Given the description of an element on the screen output the (x, y) to click on. 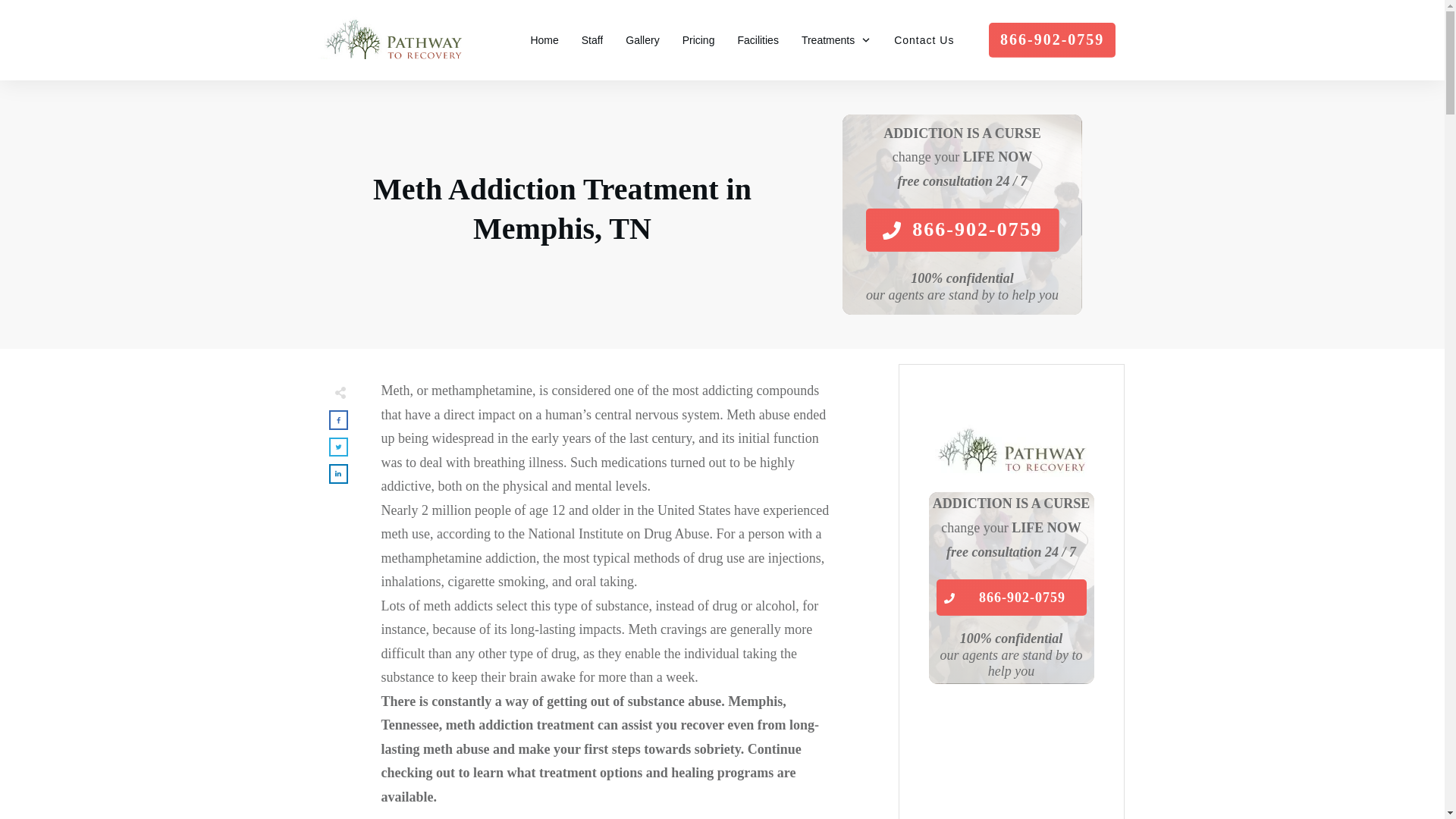
Treatments (836, 39)
Facilities (756, 39)
Pricing (698, 39)
866-902-0759 (962, 229)
Home (543, 39)
Gallery (642, 39)
Meth Addiction Treatment in Memphis, TN (561, 208)
Contact Us (923, 39)
866-902-0759 (1051, 39)
866-902-0759 (1011, 597)
